Given the description of an element on the screen output the (x, y) to click on. 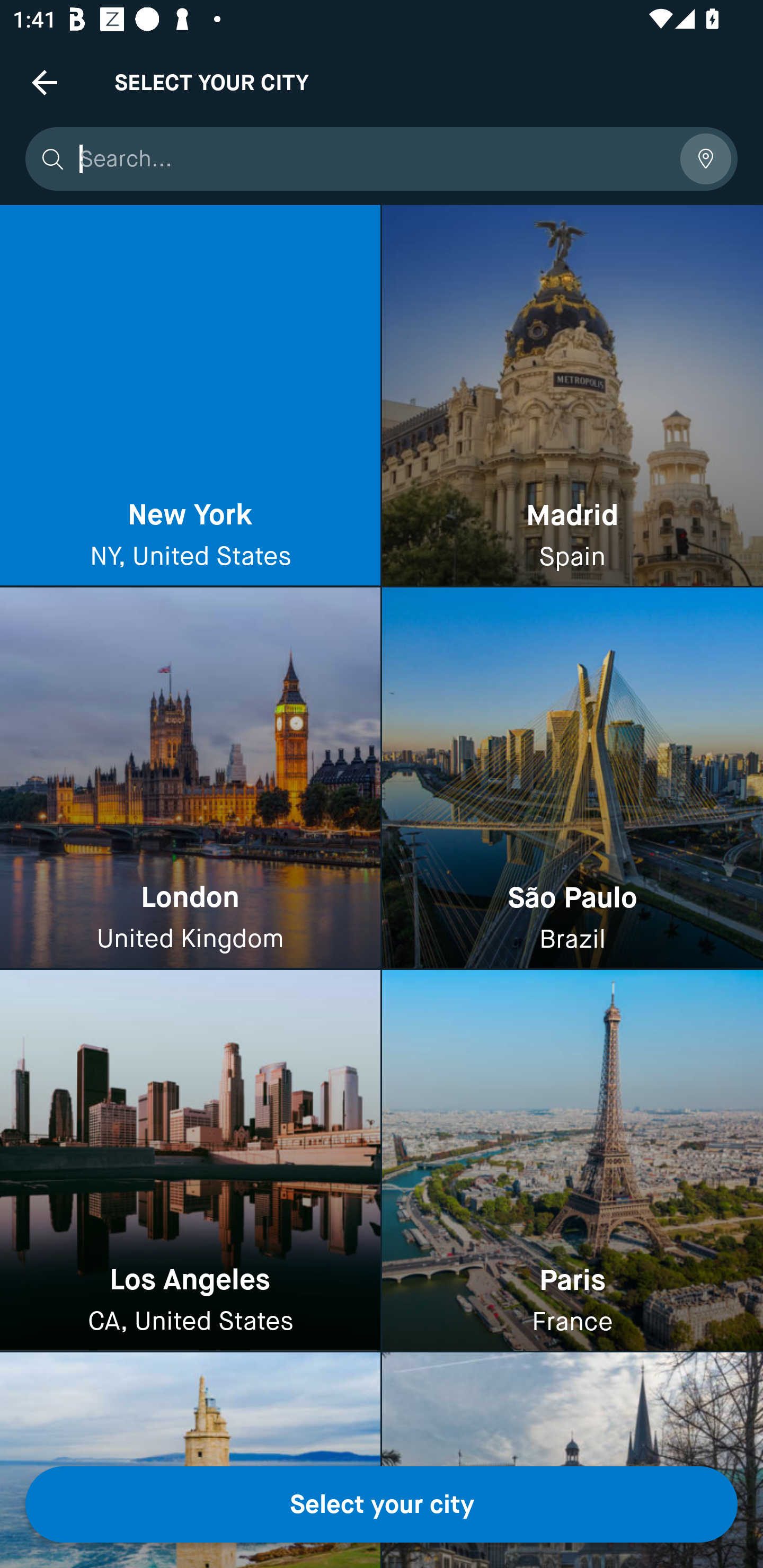
Navigate up (44, 82)
Search... (373, 159)
New York NY, United States (190, 395)
Madrid Spain (572, 395)
London United Kingdom (190, 778)
São Paulo Brazil (572, 778)
Los Angeles CA, United States (190, 1160)
Paris France (572, 1160)
Select your city (381, 1504)
